Given the description of an element on the screen output the (x, y) to click on. 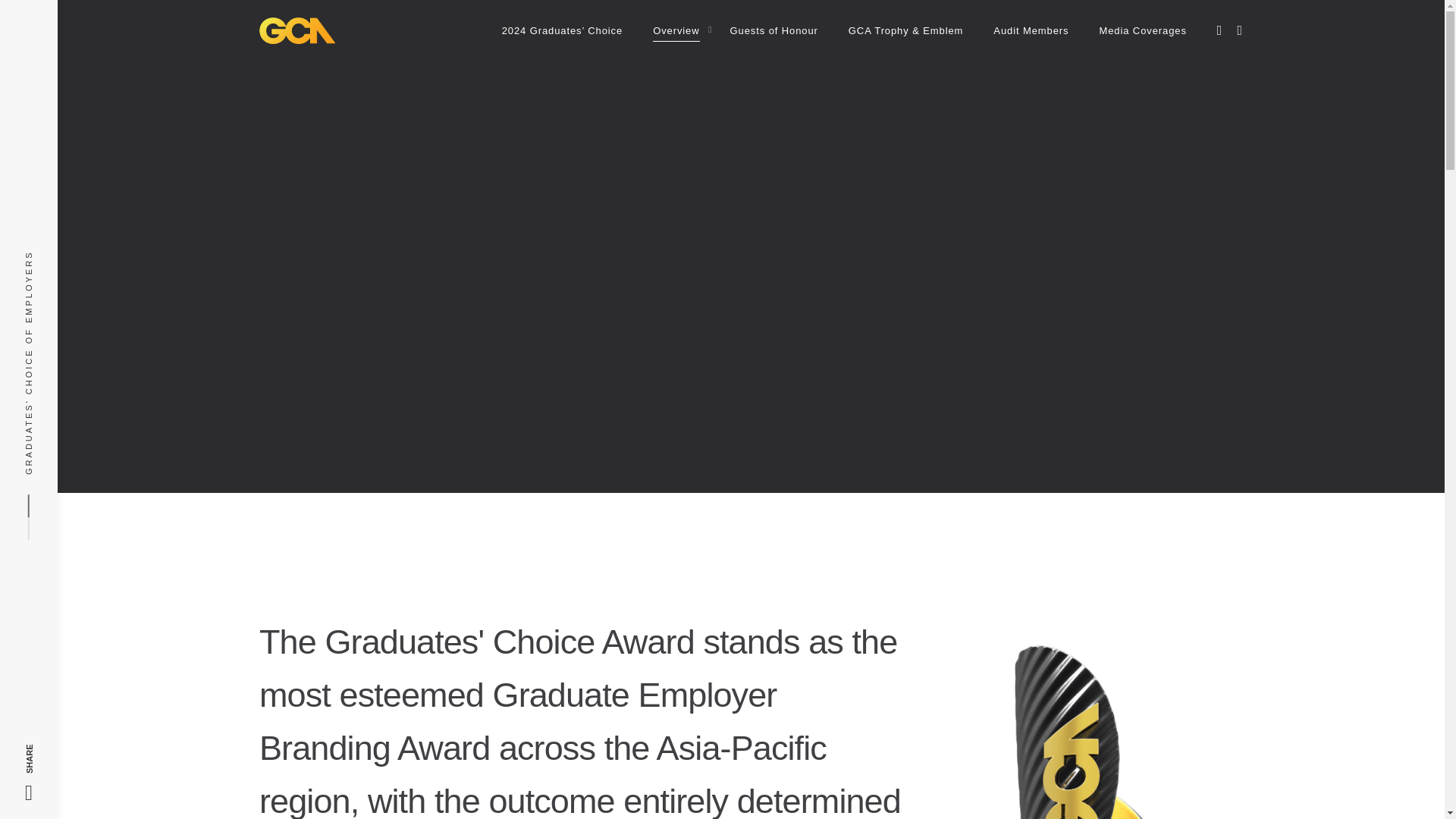
Media Coverages (1142, 30)
Overview (675, 30)
Guests of Honour (773, 30)
Audit Members (1030, 30)
